Given the description of an element on the screen output the (x, y) to click on. 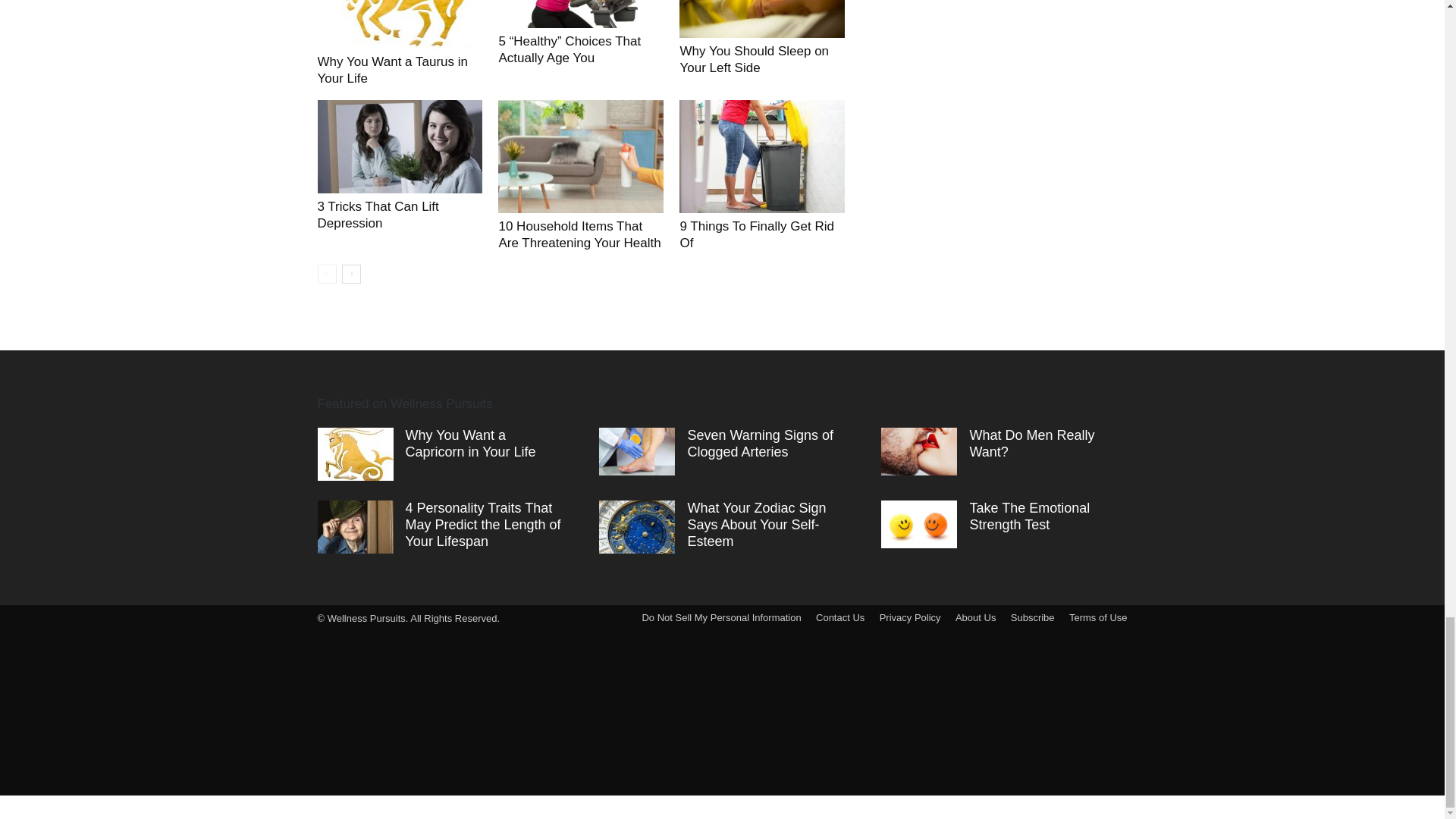
Why You Want a Taurus in Your Life (399, 24)
Why You Want a Taurus in Your Life (392, 69)
Why You Should Sleep on Your Left Side (753, 59)
10 Household Items That Are Threatening Your Health (579, 234)
3 Tricks That Can Lift Depression (377, 214)
Why You Should Sleep on Your Left Side (761, 19)
9 Things To Finally Get Rid Of (755, 234)
Why You Want a Taurus in Your Life (392, 69)
